Given the description of an element on the screen output the (x, y) to click on. 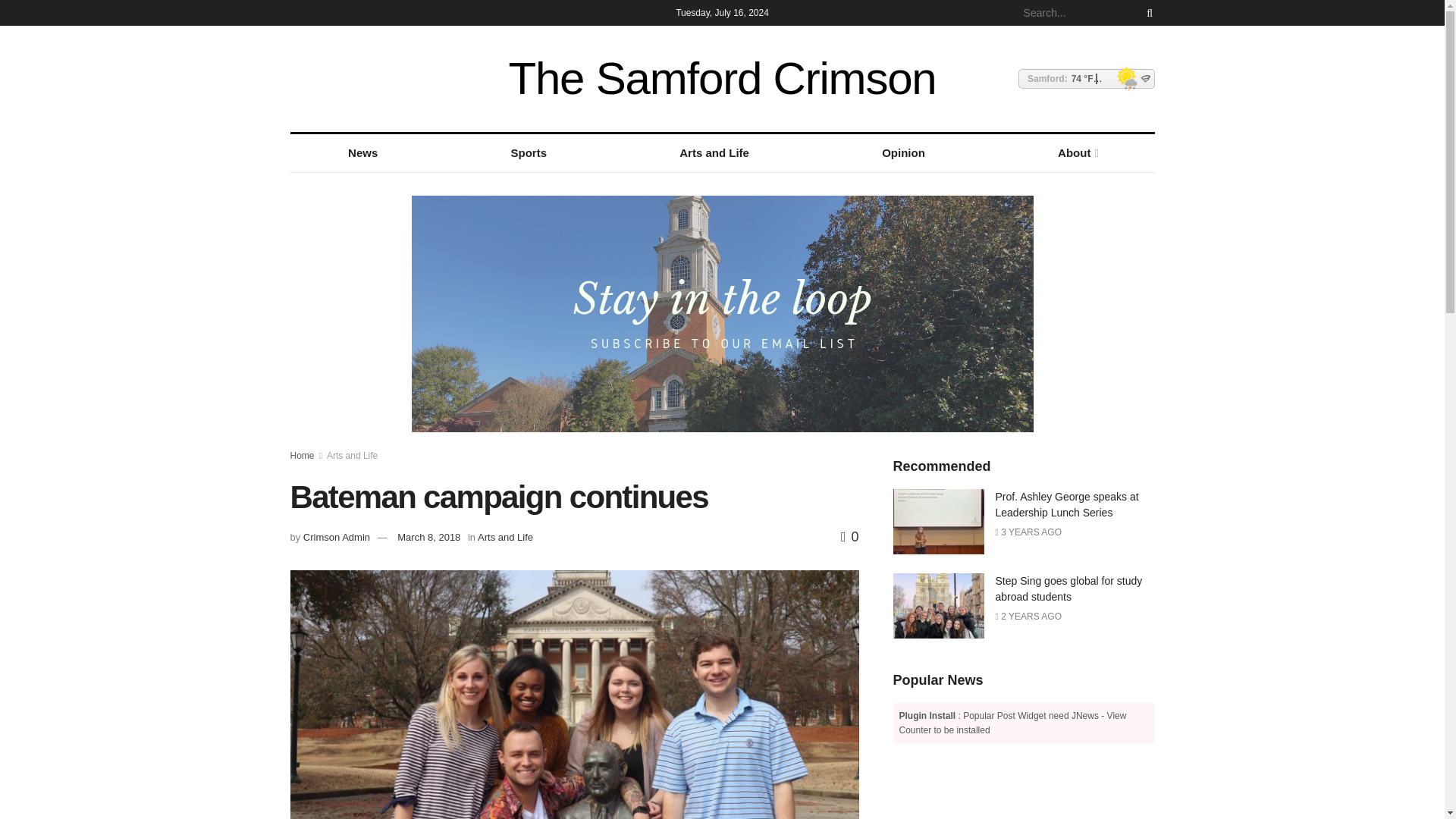
Arts and Life (351, 455)
Home (301, 455)
About (1076, 152)
Crimson Admin (335, 536)
Sports (528, 152)
Arts and Life (714, 152)
March 8, 2018 (428, 536)
News (362, 152)
The Samford Crimson (722, 78)
Arts and Life (504, 536)
Opinion (904, 152)
0 (850, 536)
